Given the description of an element on the screen output the (x, y) to click on. 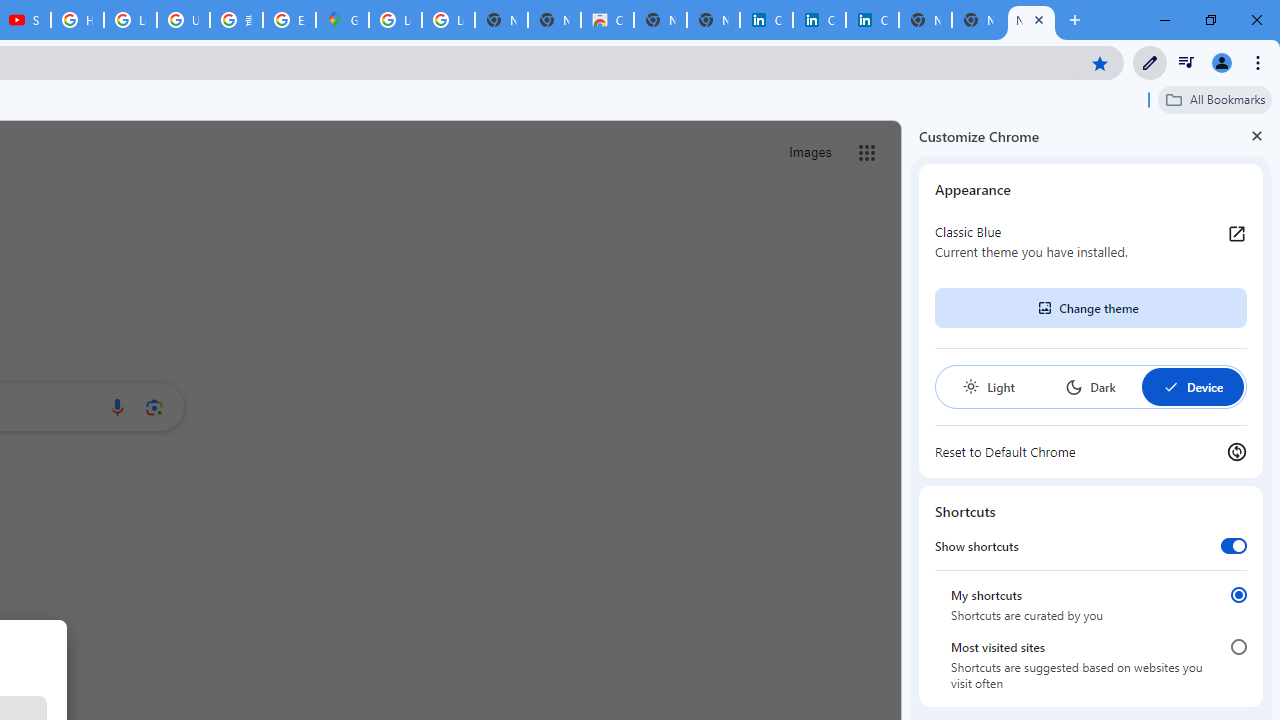
Cookie Policy | LinkedIn (819, 20)
Cookie Policy | LinkedIn (766, 20)
Light (988, 386)
Classic Blue Current theme you have installed. (1091, 241)
New Tab (1031, 20)
Google Maps (342, 20)
Show shortcuts (1233, 545)
Most visited sites (1238, 647)
Copyright Policy (872, 20)
